Given the description of an element on the screen output the (x, y) to click on. 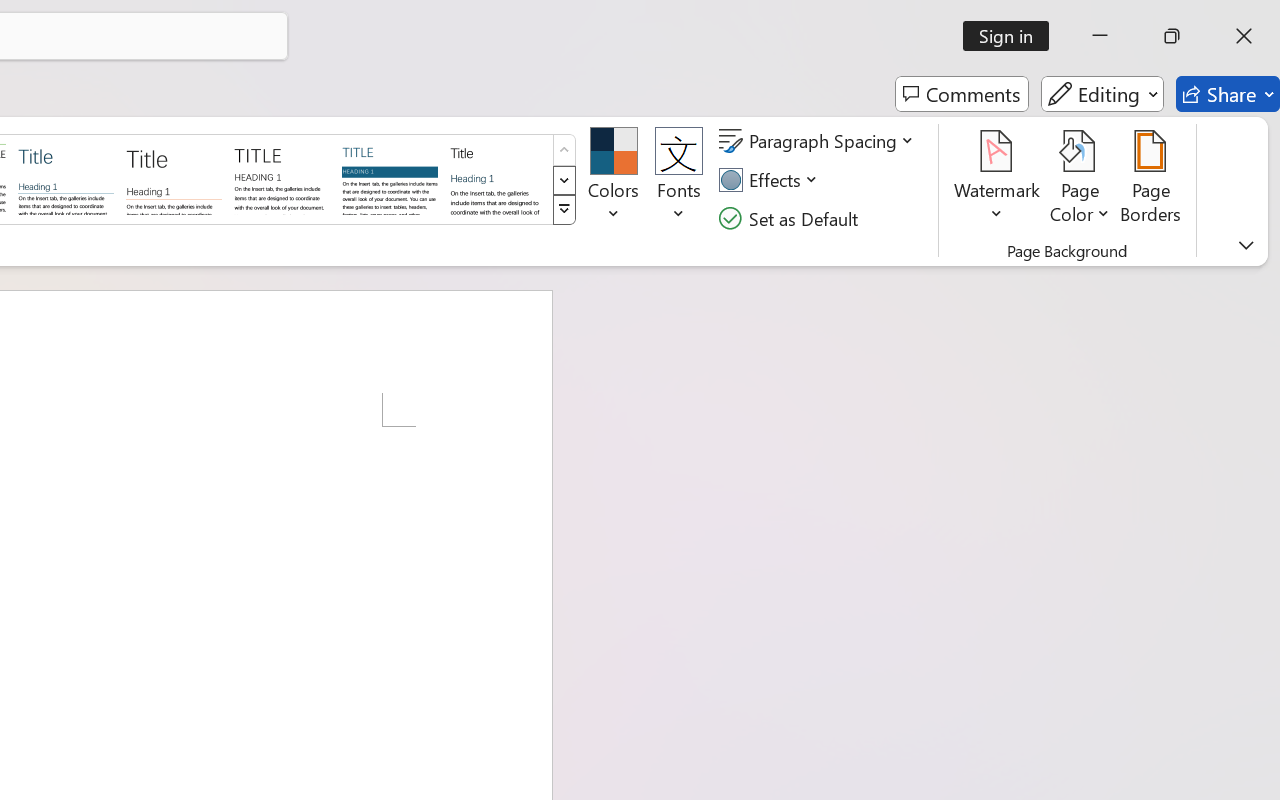
Fonts (678, 179)
Colors (613, 179)
Editing (1101, 94)
Watermark (997, 179)
Page Color (1080, 179)
Paragraph Spacing (819, 141)
Lines (Simple) (65, 178)
